Given the description of an element on the screen output the (x, y) to click on. 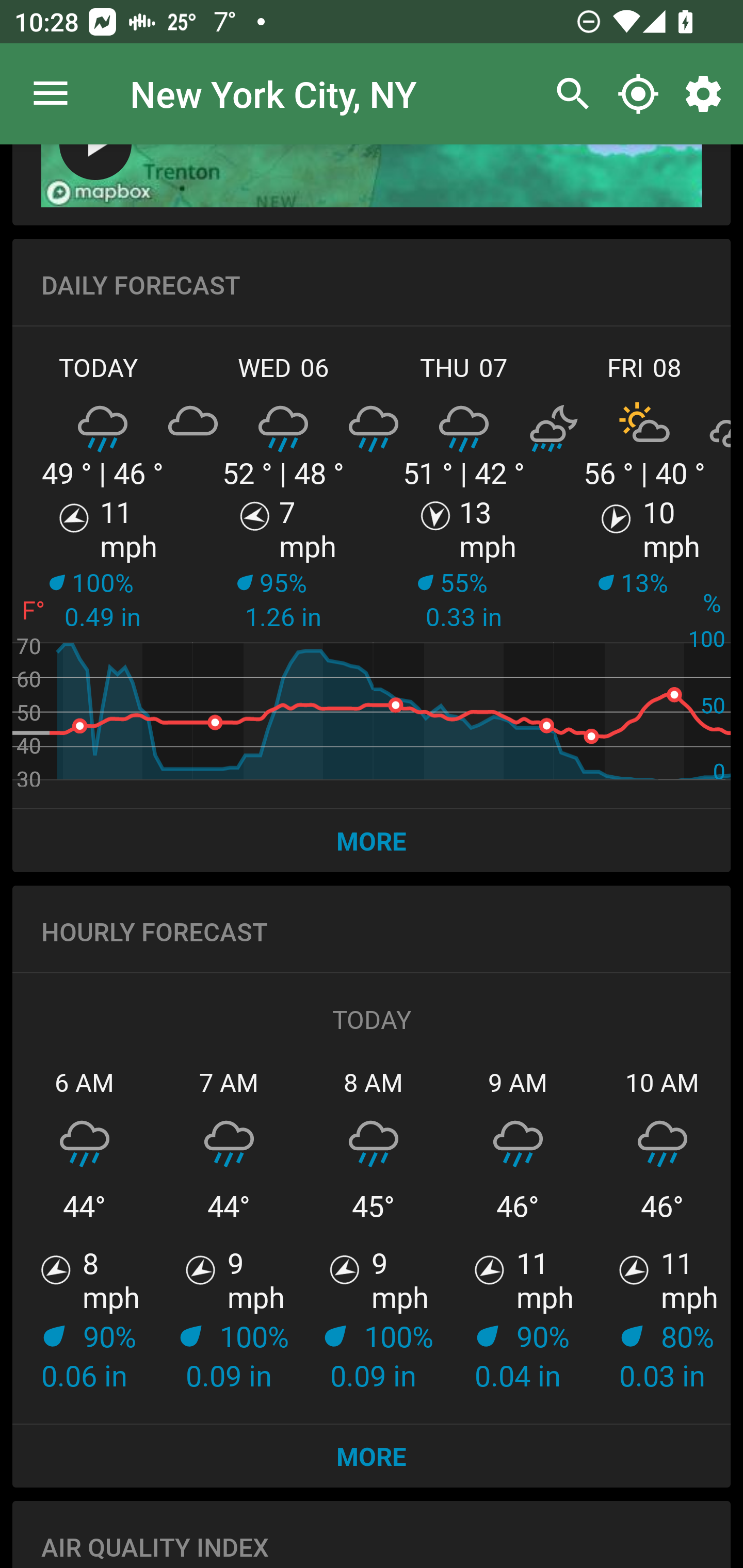
Press to open location manager. (50, 93)
Search for location (567, 94)
Select GPS location (637, 94)
Settings (706, 94)
New York City, NY (273, 92)
TODAY Rain 49 °  |  46 ° 11
mph 100% 0.49 in (102, 564)
WED 06 Rain 52 °  |  48 ° 7
mph 95% 1.26 in (283, 564)
THU 07 Showers 51 °  |  42 ° 13
mph 55% 0.33 in (463, 564)
FRI 08 Partly Cloudy 56 °  |  40 ° 10
mph 13% (642, 564)
MORE (371, 840)
6 AM 44° 8
mph 90% 0.06 in (84, 1228)
7 AM 44° 9
mph 100% 0.09 in (228, 1228)
8 AM 45° 9
mph 100% 0.09 in (373, 1228)
9 AM 46° 11
mph 90% 0.04 in (517, 1228)
10 AM 46° 11
mph 80% 0.03 in (659, 1228)
MORE (371, 1455)
